Given the description of an element on the screen output the (x, y) to click on. 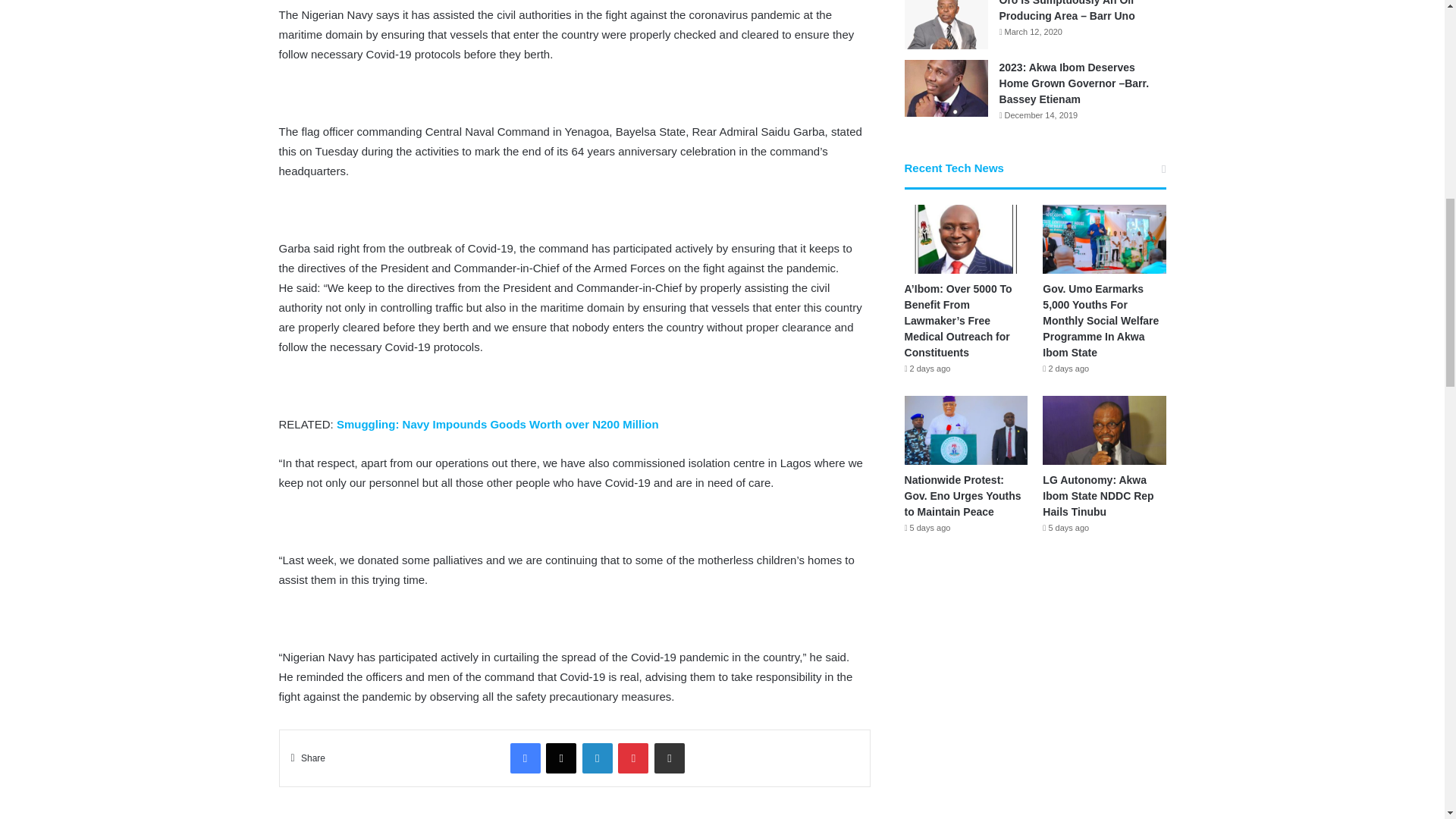
Pinterest (632, 757)
X (561, 757)
LinkedIn (597, 757)
Pinterest (632, 757)
LinkedIn (597, 757)
Facebook (524, 757)
X (561, 757)
Facebook (524, 757)
Share via Email (668, 757)
Share via Email (668, 757)
Smuggling: Navy Impounds Goods Worth over N200 Million (497, 423)
